Given the description of an element on the screen output the (x, y) to click on. 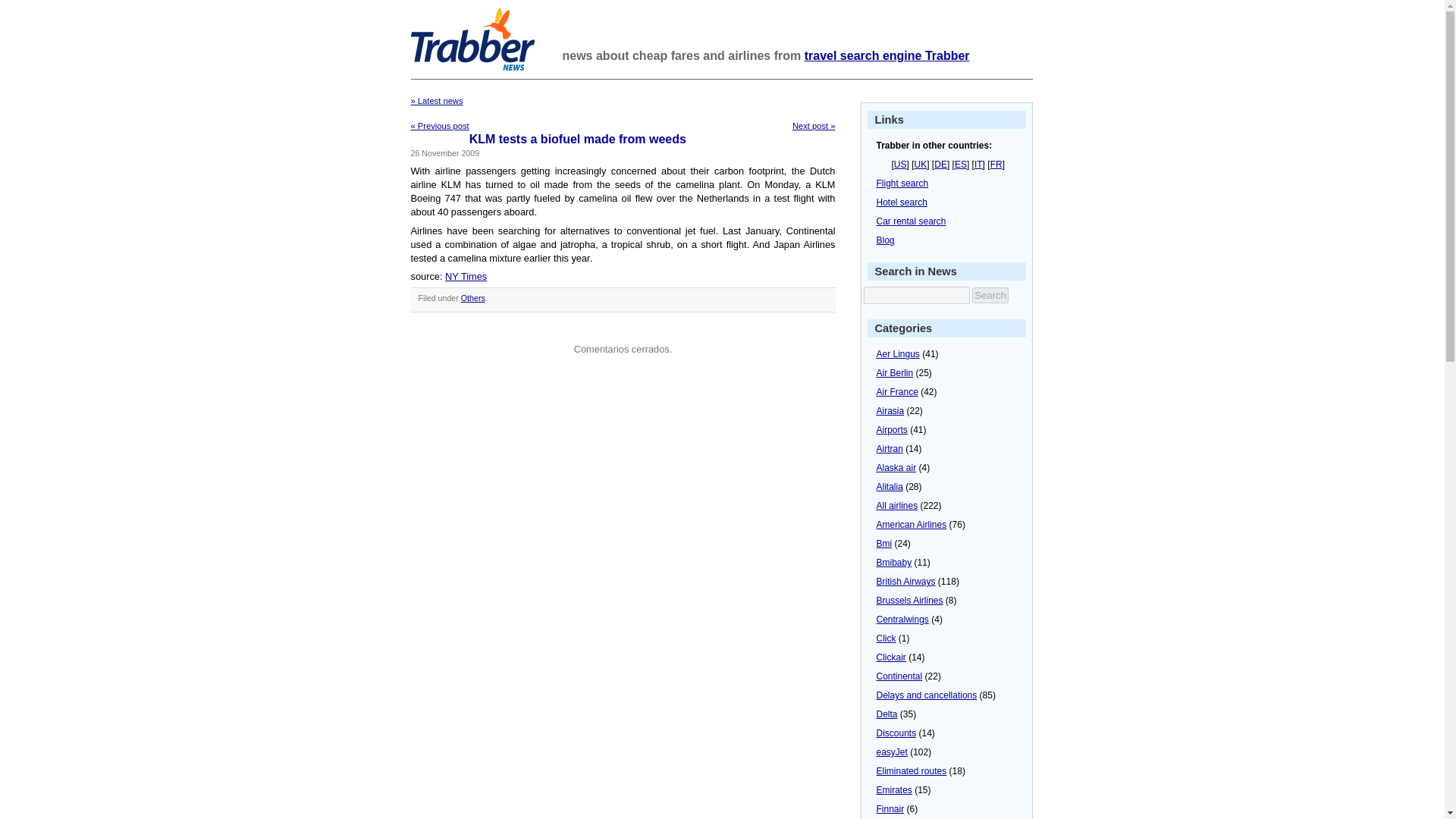
travel search engine Trabber (887, 55)
Others (472, 297)
Link: KLM tests a biofuel made from weeds (576, 138)
All airlines (897, 505)
Blog (885, 240)
Alaska air (896, 467)
Air Berlin (895, 372)
Click (886, 638)
Clickair (890, 656)
Car rental search (911, 221)
Continental (899, 675)
Bmibaby (894, 562)
Search (990, 295)
ES (960, 163)
Alitalia (889, 486)
